Given the description of an element on the screen output the (x, y) to click on. 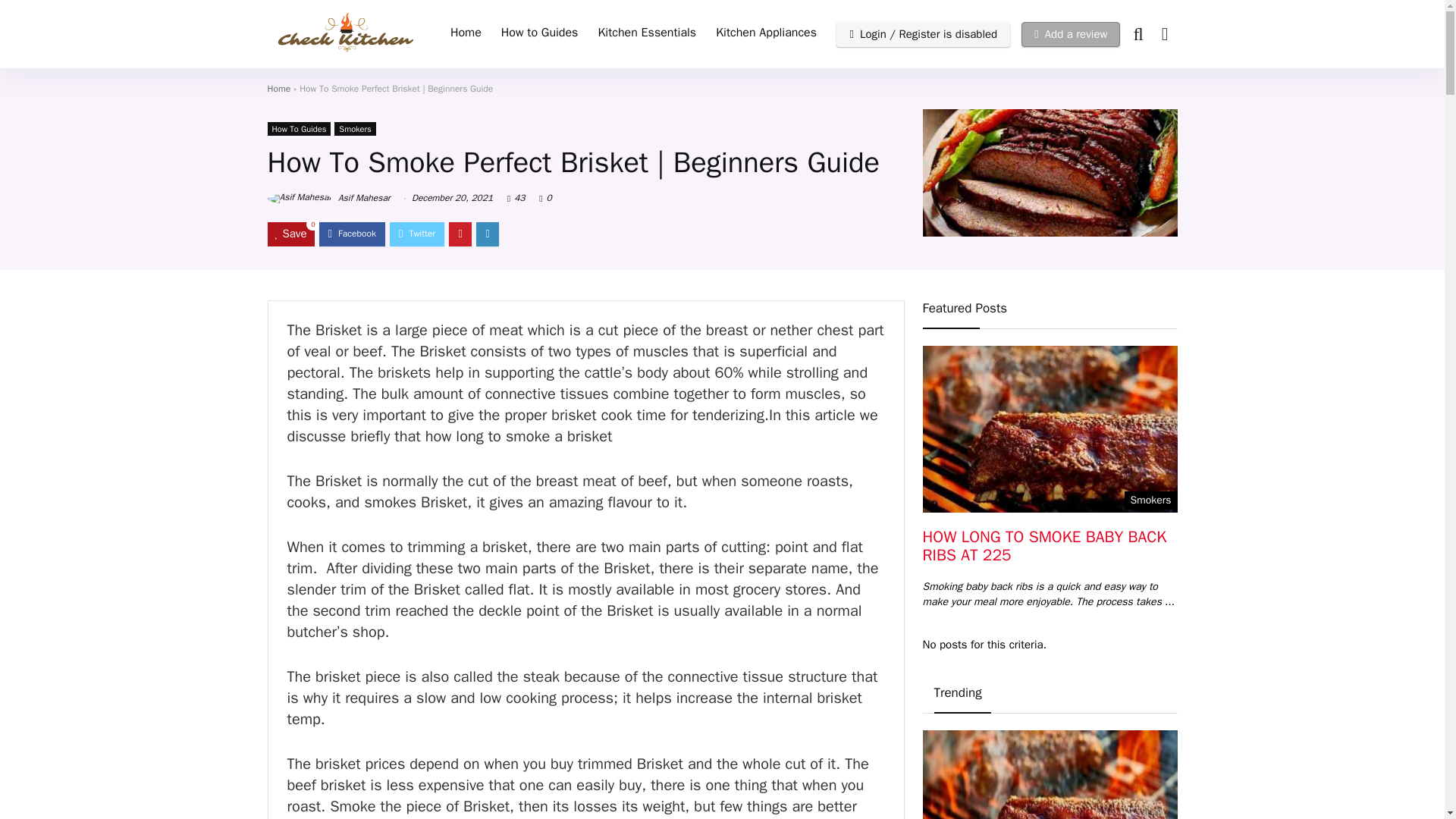
Home (466, 33)
How To Guides (298, 128)
How to Guides (540, 33)
Asif Mahesar (328, 197)
Home (277, 88)
View all posts in How To Guides (298, 128)
Smokers (354, 128)
Kitchen Appliances (766, 33)
Kitchen Essentials (647, 33)
View all posts in Smokers (354, 128)
